Given the description of an element on the screen output the (x, y) to click on. 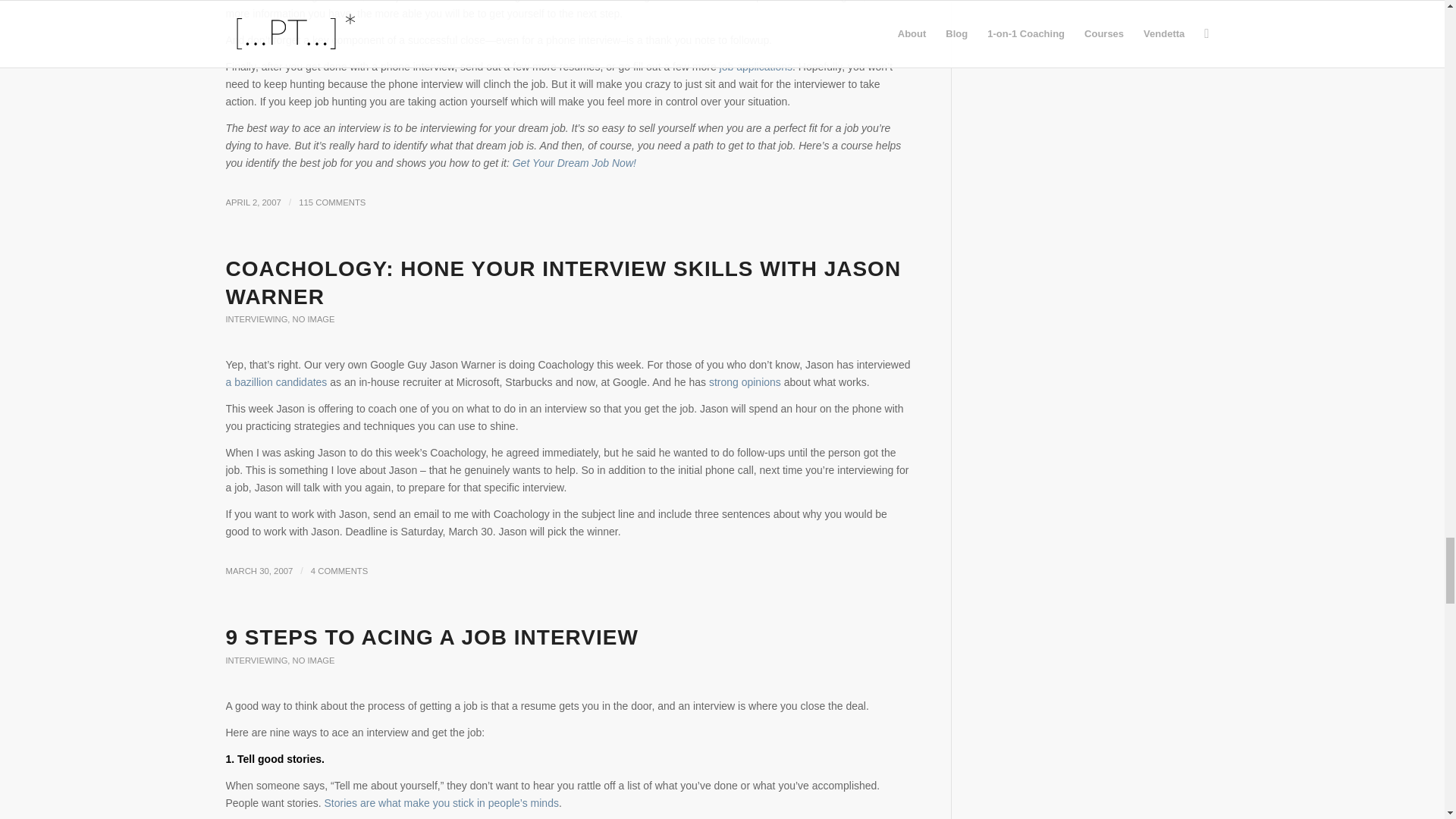
Permanent Link: 9 Steps to acing a job interview (432, 637)
Get Your Dream Job Now! (574, 162)
